Given the description of an element on the screen output the (x, y) to click on. 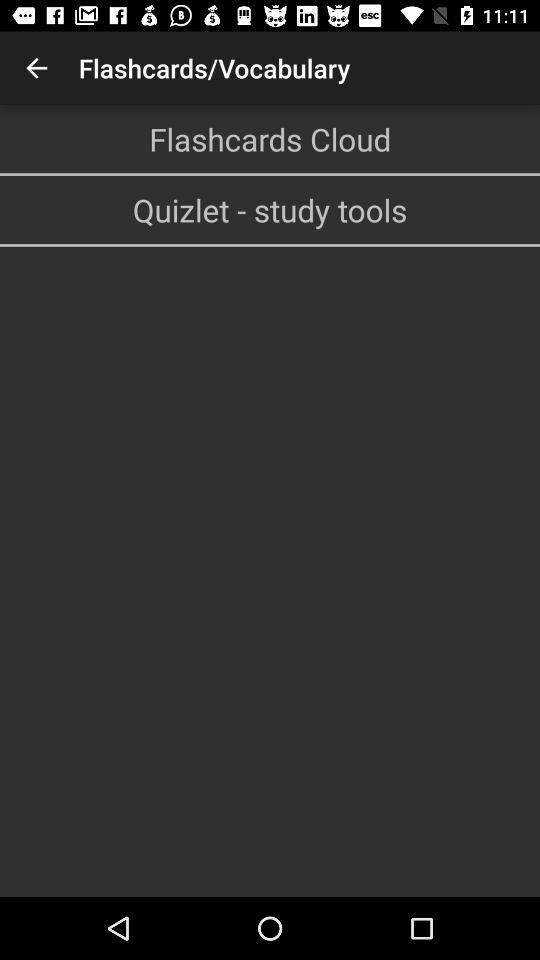
choose the item to the left of flashcards/vocabulary icon (36, 68)
